Given the description of an element on the screen output the (x, y) to click on. 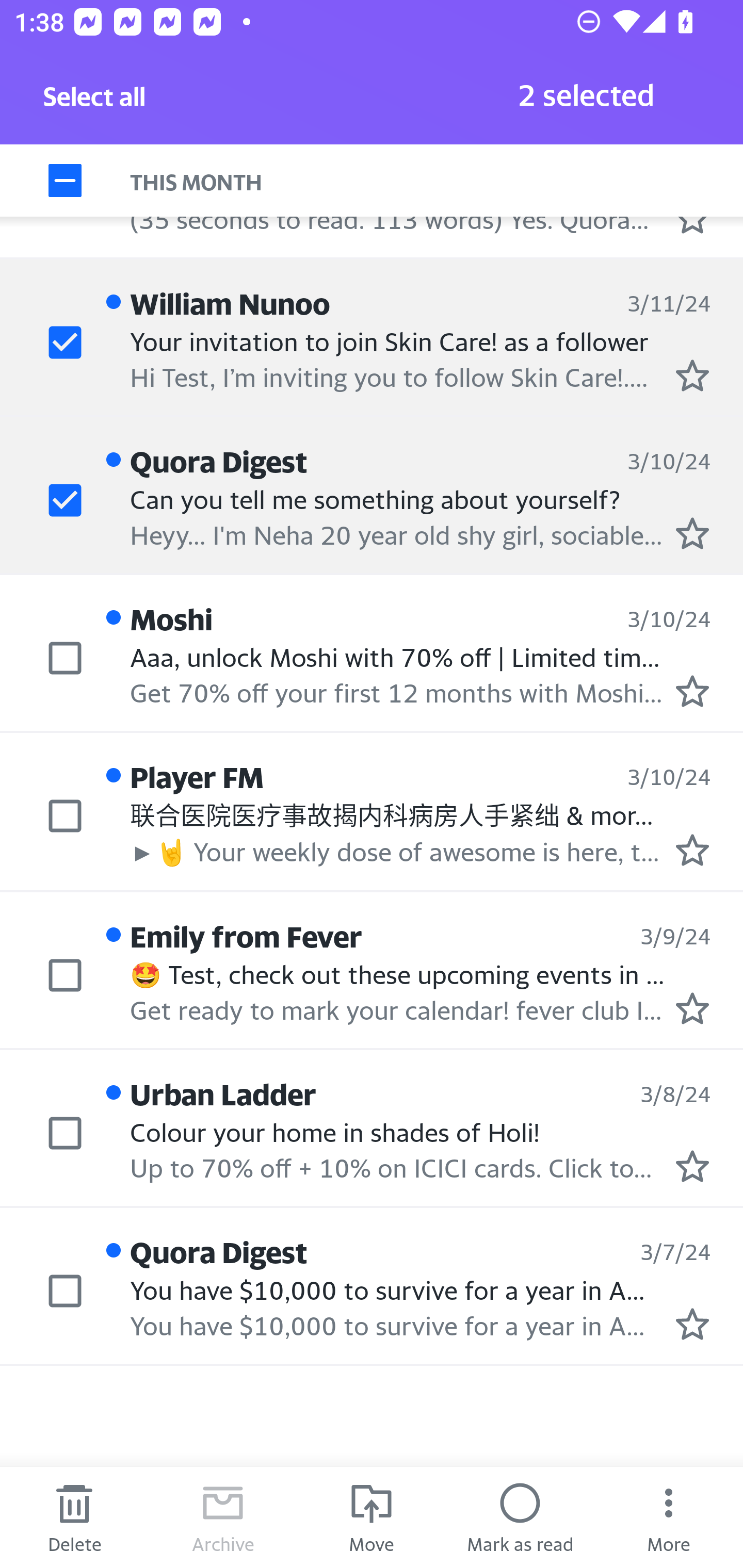
Select all (94, 101)
Mark as starred. (692, 375)
Mark as starred. (692, 533)
Mark as starred. (692, 690)
Mark as starred. (692, 850)
Mark as starred. (692, 1008)
Mark as starred. (692, 1165)
Mark as starred. (692, 1324)
Delete (74, 1517)
Archive (222, 1517)
Move (371, 1517)
Mark as read (519, 1517)
More (668, 1517)
